Given the description of an element on the screen output the (x, y) to click on. 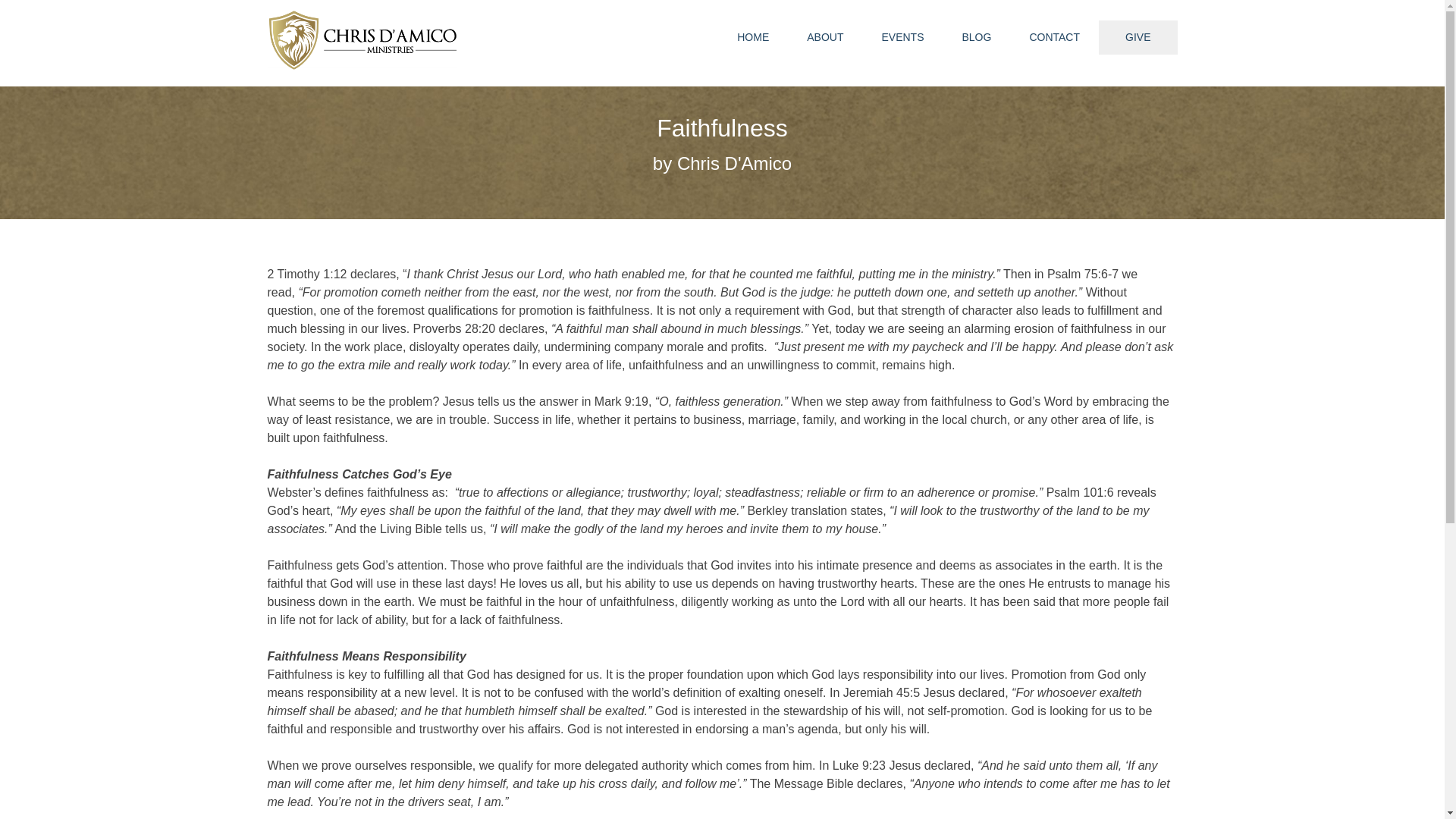
GIVE (1137, 37)
EVENTS (901, 37)
CONTACT (1054, 37)
HOME (752, 37)
BLOG (975, 37)
ABOUT (824, 37)
